Given the description of an element on the screen output the (x, y) to click on. 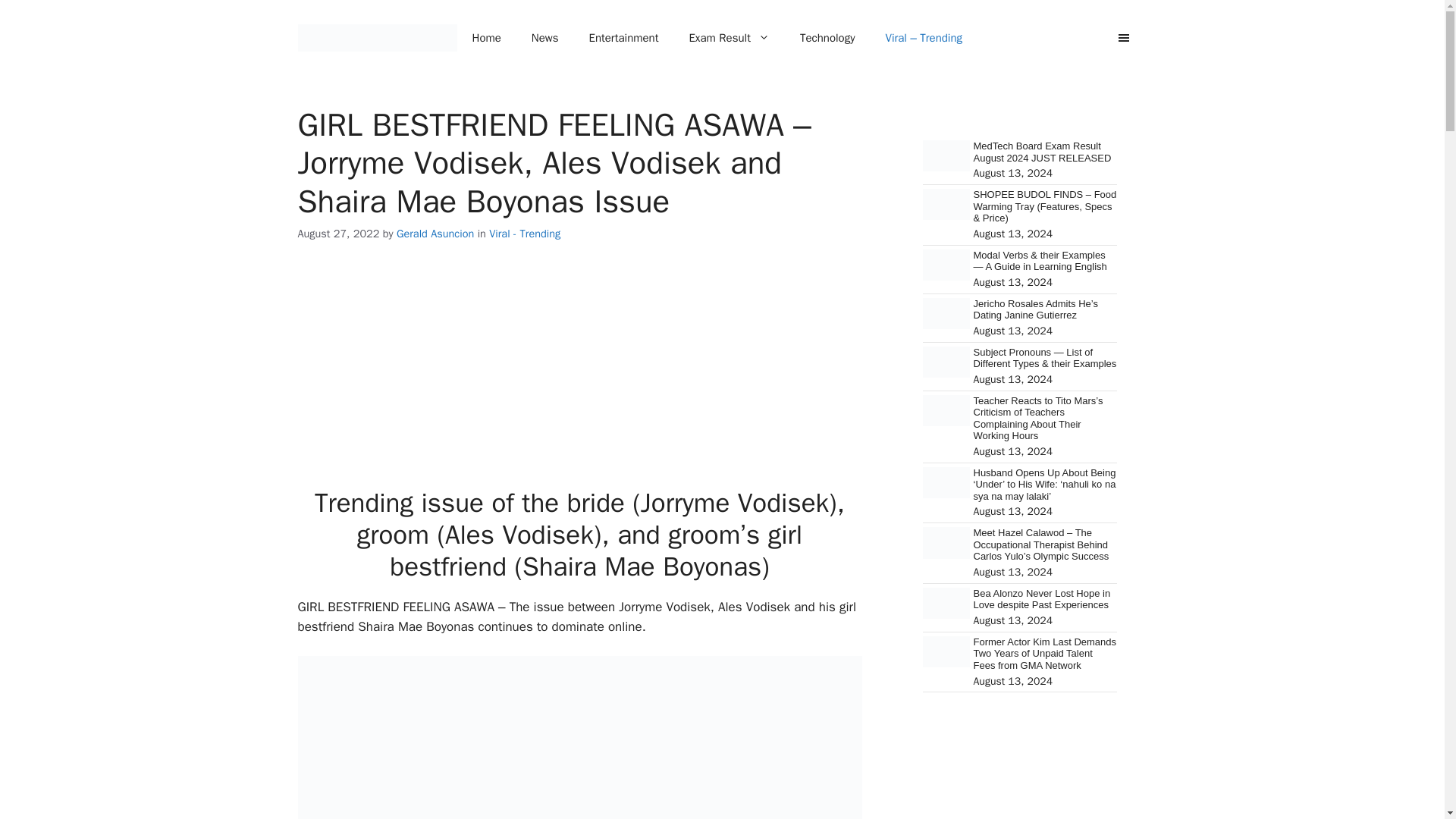
News (544, 37)
Entertainment (623, 37)
Home (486, 37)
Exam Result (728, 37)
View all posts by Gerald Asuncion (435, 233)
